Given the description of an element on the screen output the (x, y) to click on. 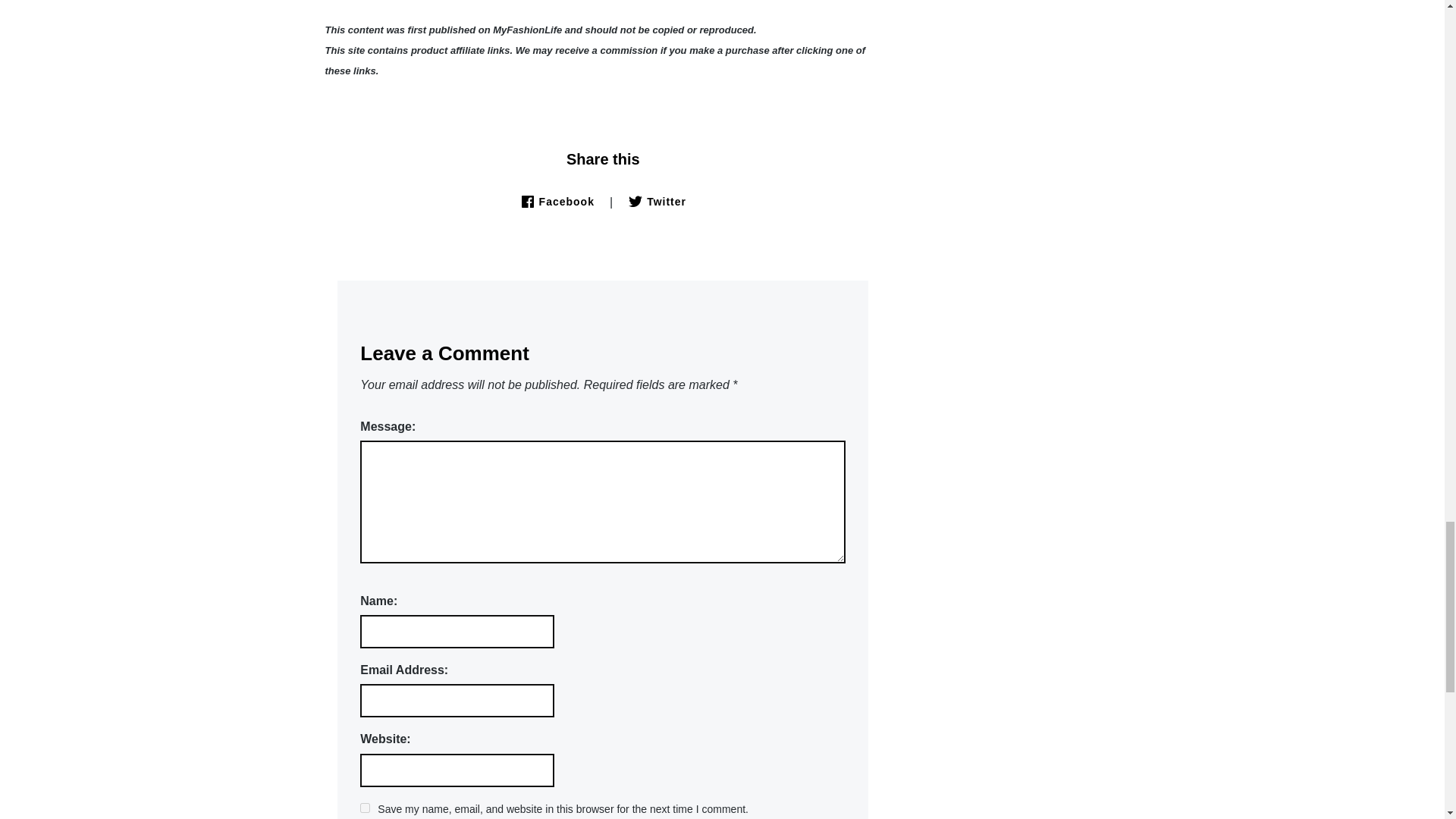
yes (364, 808)
Share this on Facebook (556, 201)
Tweet this on Twitter (656, 201)
